Given the description of an element on the screen output the (x, y) to click on. 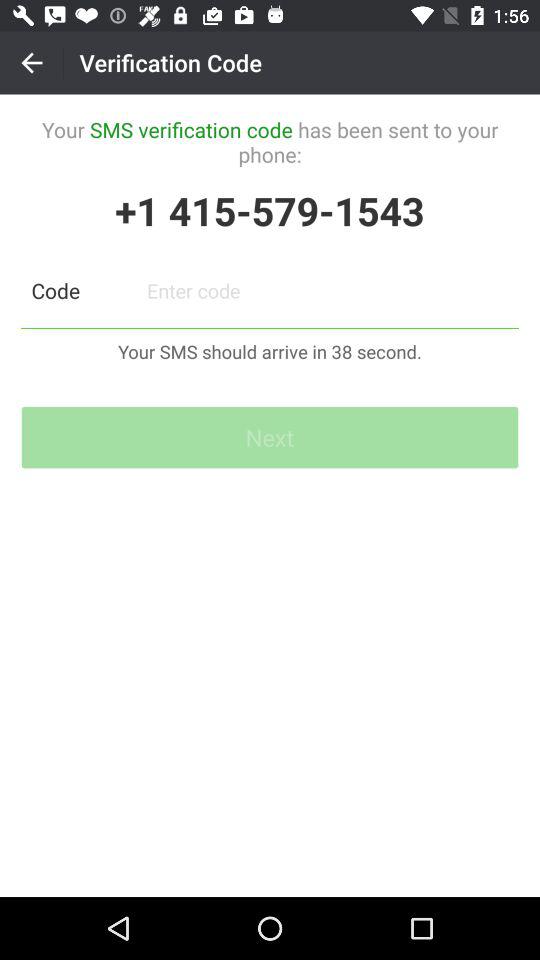
enter otp option (327, 290)
